Given the description of an element on the screen output the (x, y) to click on. 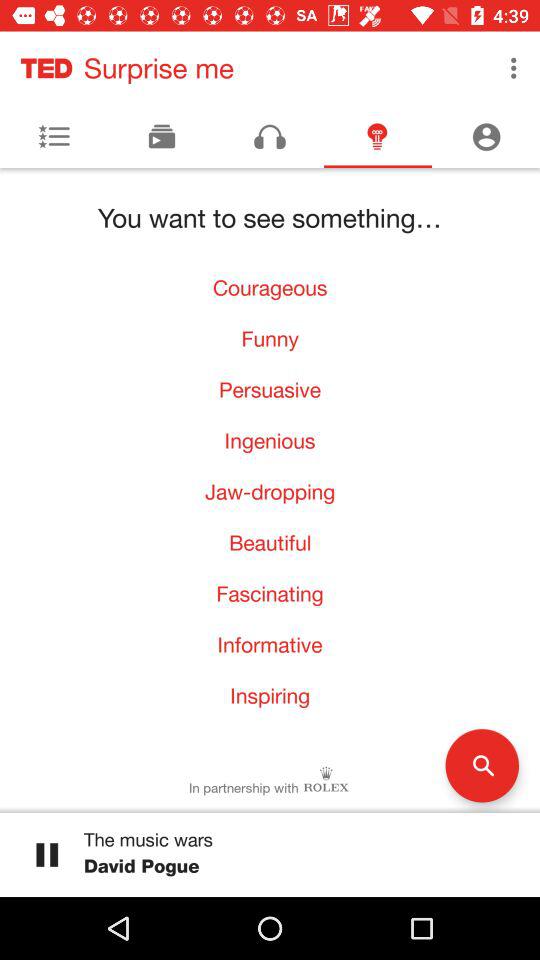
swipe to the ingenious icon (270, 440)
